Given the description of an element on the screen output the (x, y) to click on. 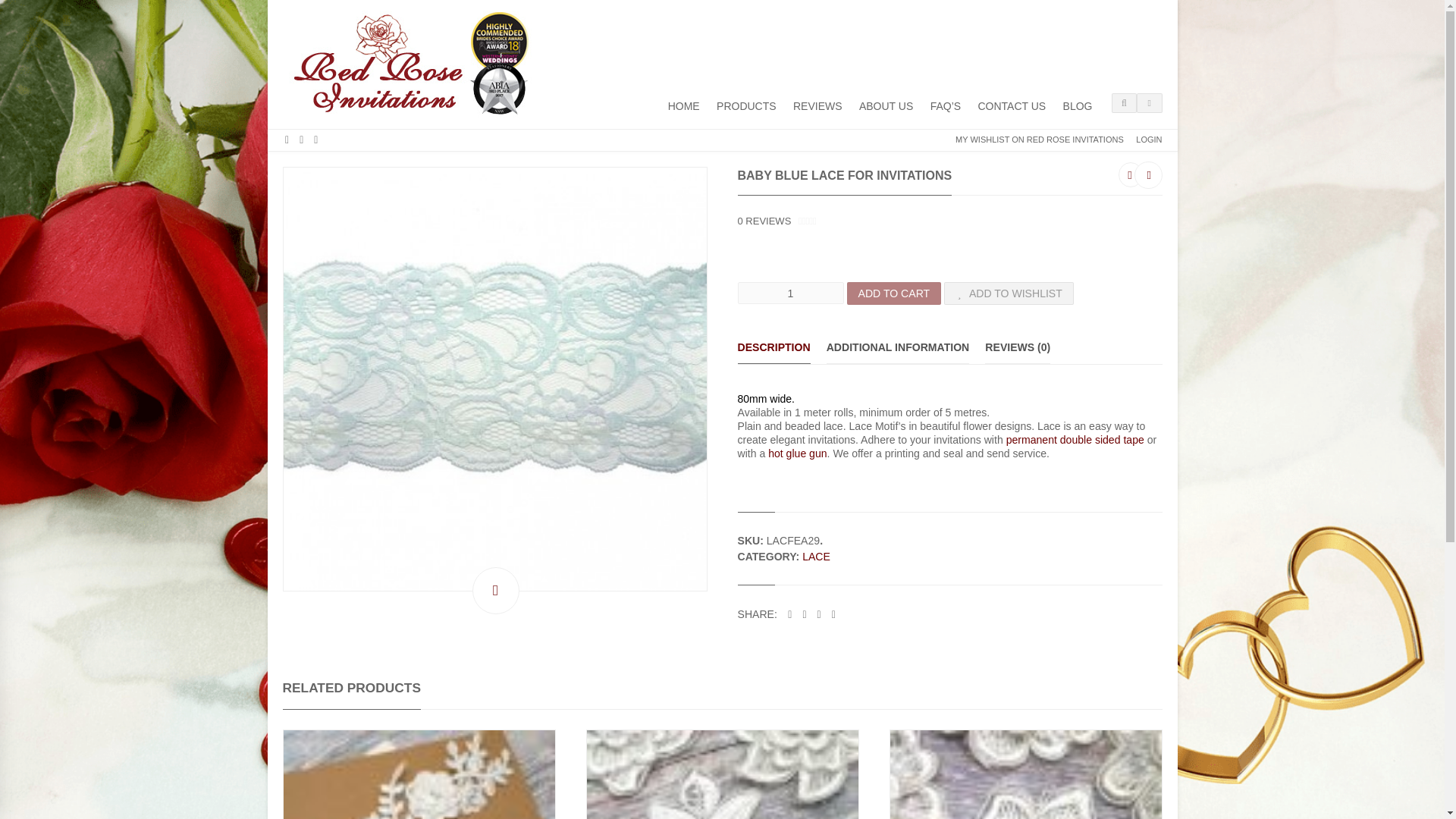
Beaded Flower Head Ivory Lace Piece for Invitations (1025, 774)
1 (789, 292)
Rated 0 out of 5 (822, 221)
Qty (789, 292)
Ivory Beaded Floral Lace Piece for Invitations (418, 774)
Flower with Leaves Ivory Lace Piece for Invitations (722, 774)
